Given the description of an element on the screen output the (x, y) to click on. 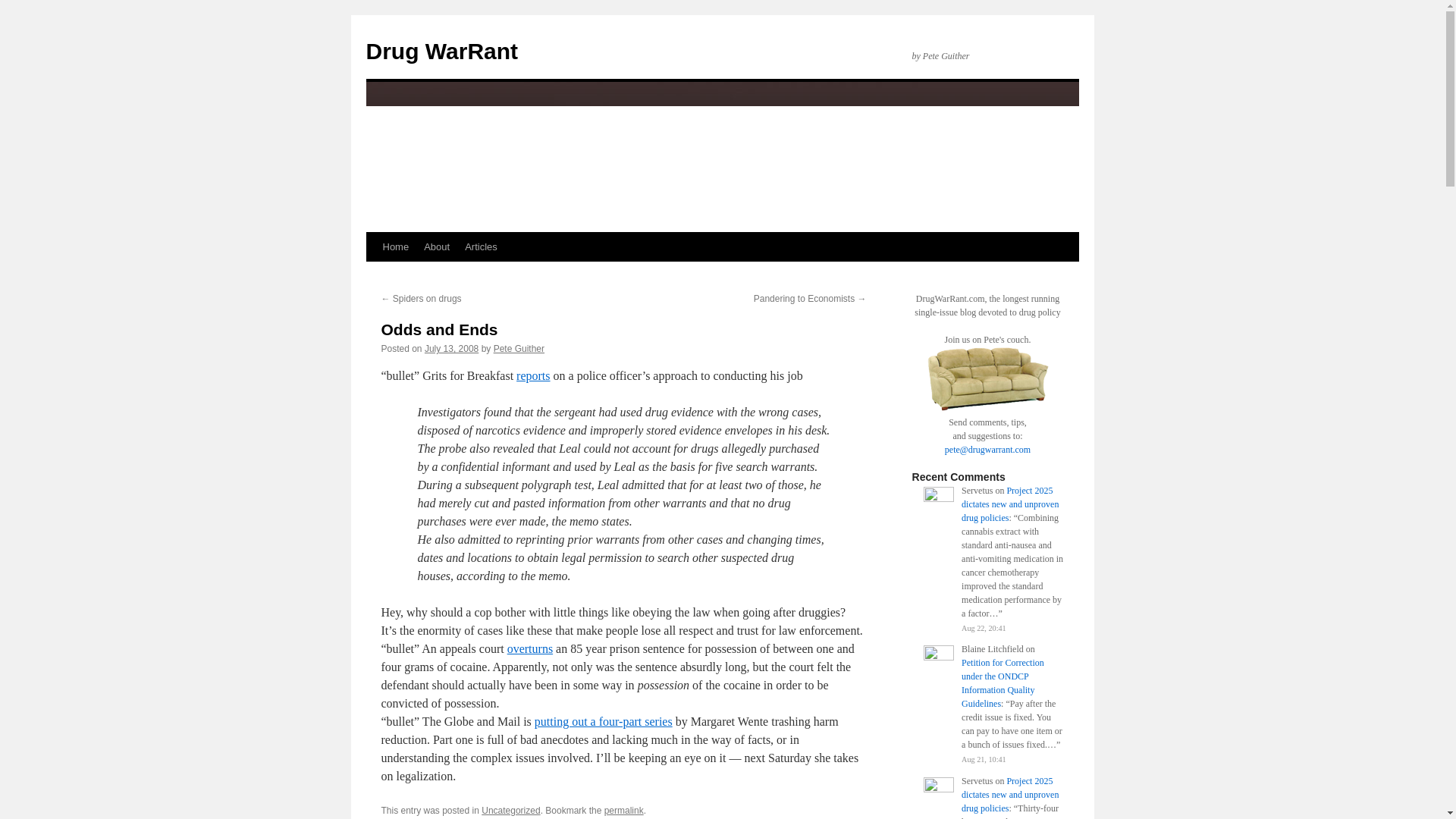
overturns (529, 648)
Drug WarRant (441, 50)
Permalink to Odds and Ends (623, 810)
Home (395, 246)
8:33 pm (452, 348)
View all posts by Pete Guither (518, 348)
reports (533, 375)
About (436, 246)
Articles (481, 246)
putting out a four-part series (603, 721)
